Given the description of an element on the screen output the (x, y) to click on. 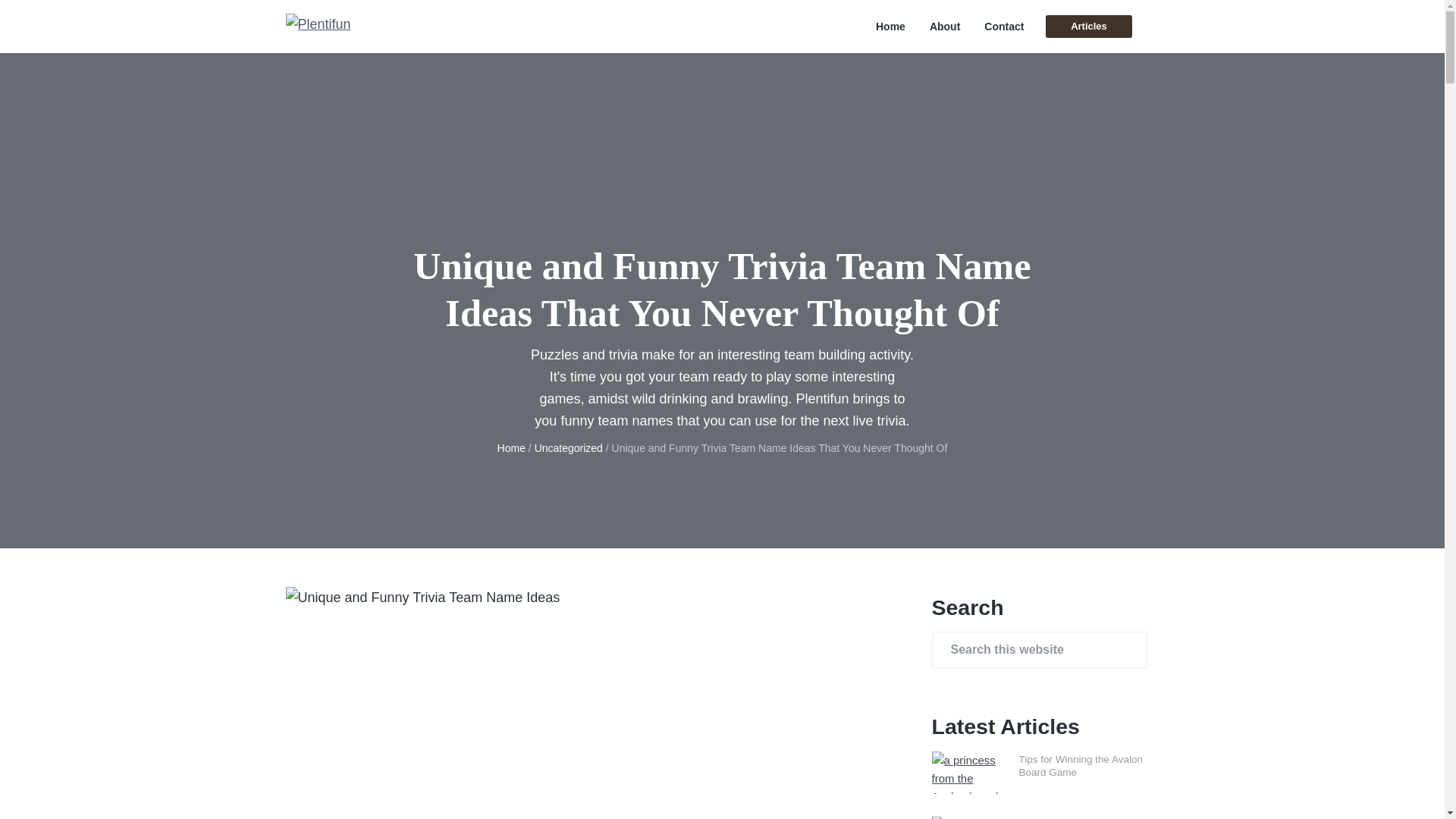
Home (890, 27)
Contact (1003, 27)
Articles (1087, 25)
Home (511, 448)
Uncategorized (568, 448)
Tips for Winning the Avalon Board Game (1080, 765)
Search (60, 18)
About (944, 27)
